Given the description of an element on the screen output the (x, y) to click on. 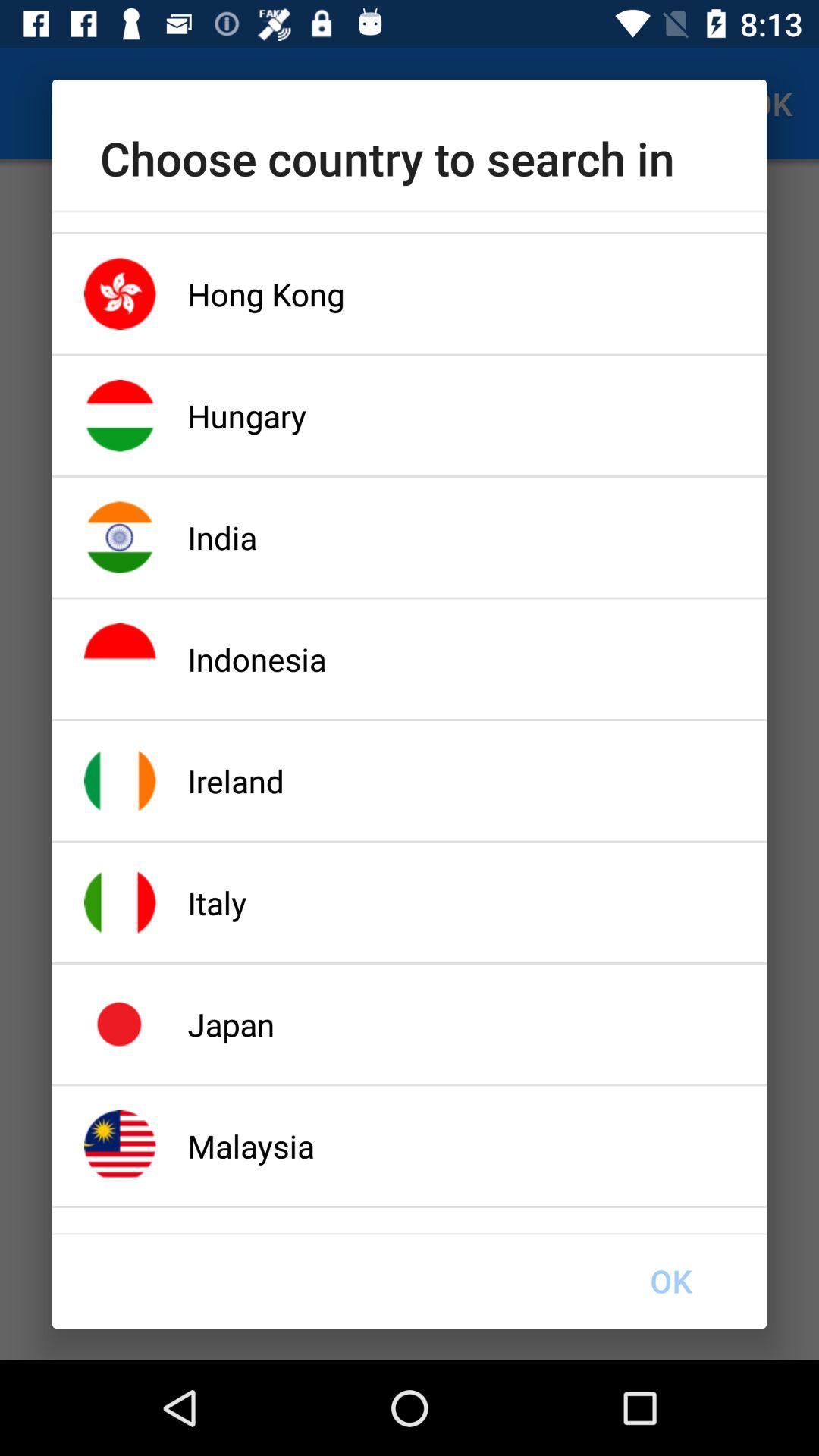
jump until ok item (670, 1280)
